Given the description of an element on the screen output the (x, y) to click on. 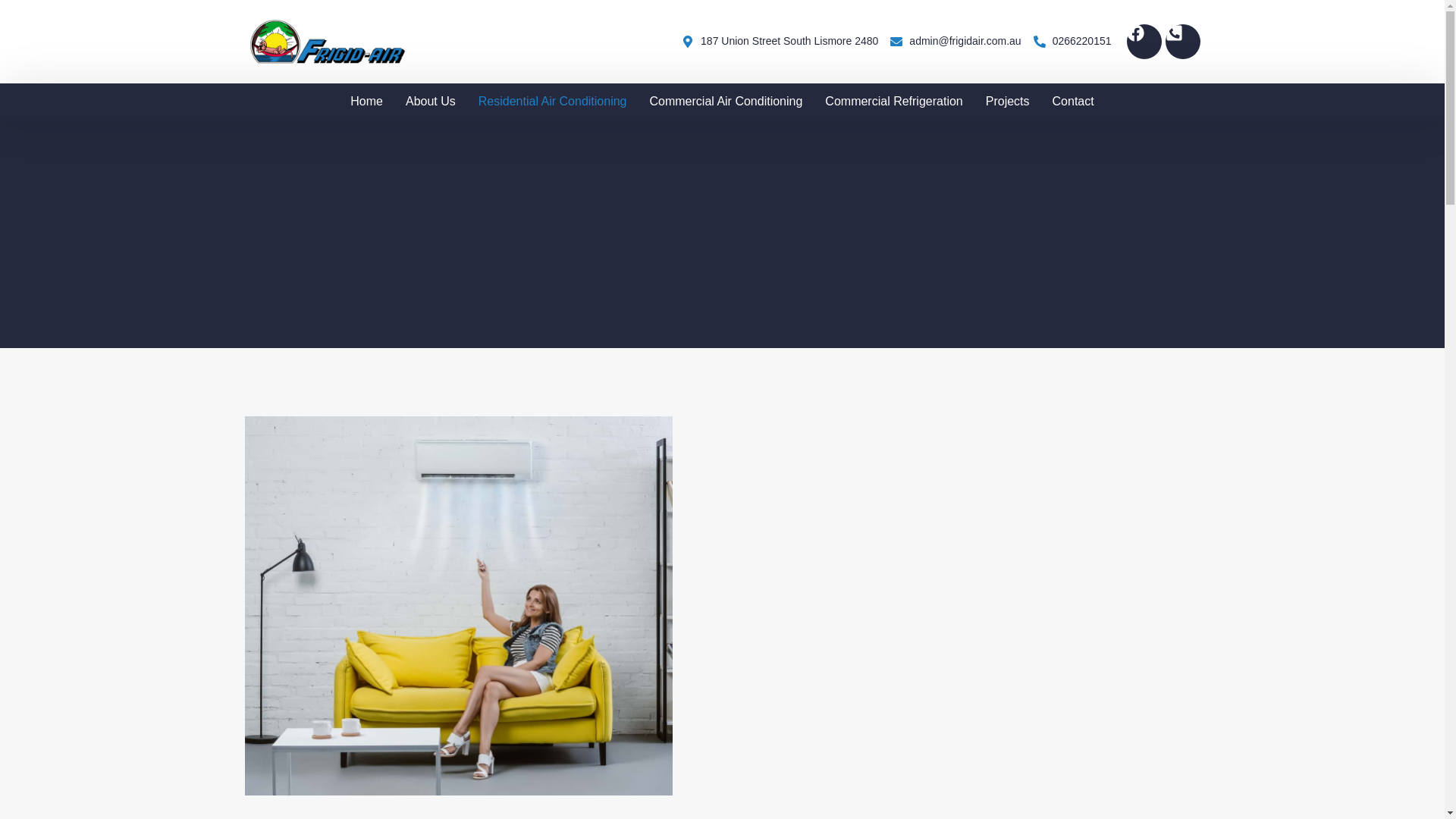
0266220151 (1072, 40)
Commercial Refrigeration (893, 101)
Residential Air Conditioning (553, 101)
Commercial Air Conditioning (725, 101)
Projects (1007, 101)
Home (366, 101)
About Us (430, 101)
Contact (1073, 101)
